Given the description of an element on the screen output the (x, y) to click on. 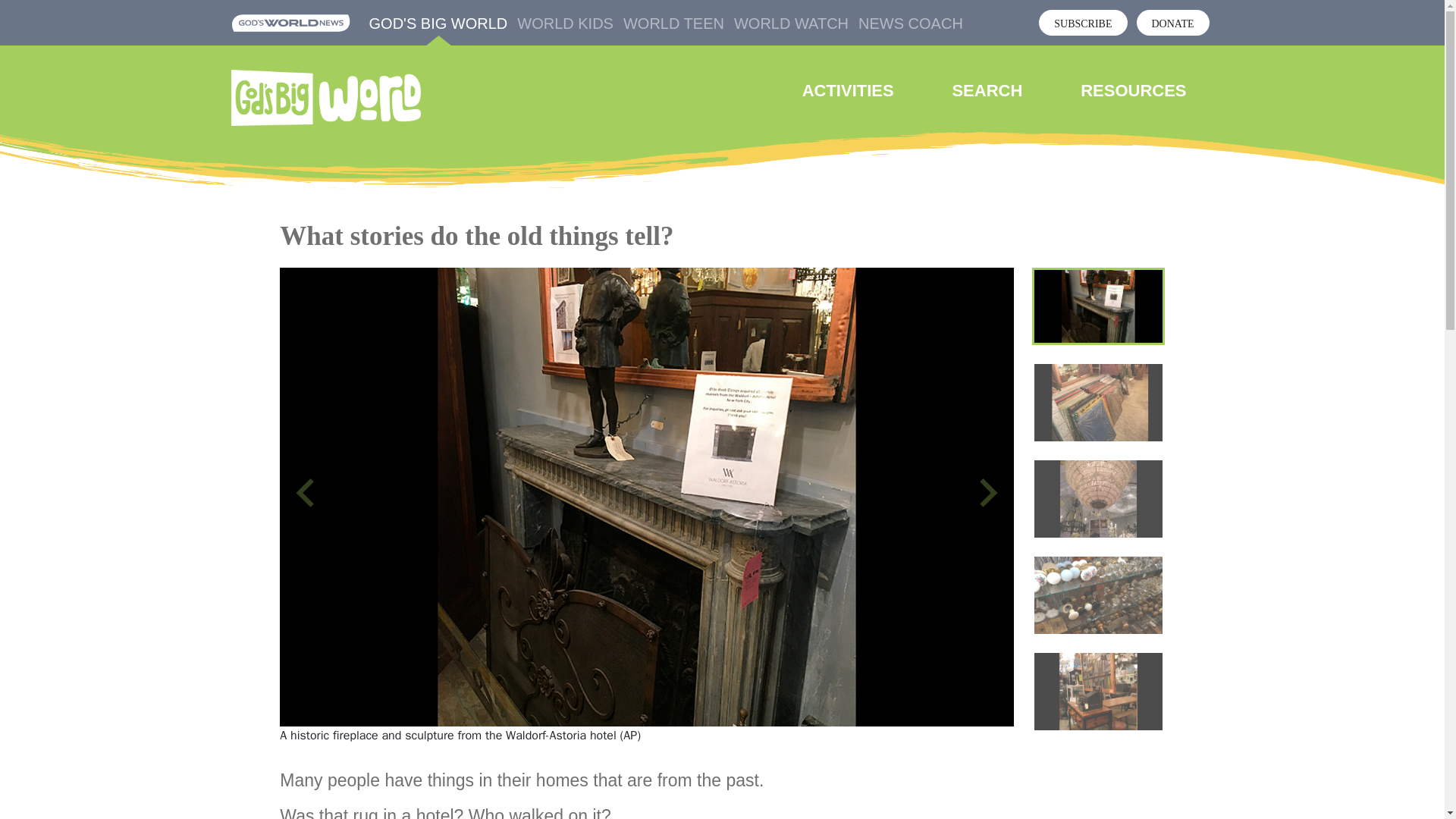
ACTIVITIES (847, 90)
WORLD TEEN (673, 24)
WORLD KIDS (564, 24)
GOD'S BIG WORLD (438, 24)
NEWS COACH (910, 24)
SEARCH (986, 90)
DONATE (1171, 22)
SUBSCRIBE (1082, 22)
WORLD WATCH (790, 24)
RESOURCES (1133, 90)
